Given the description of an element on the screen output the (x, y) to click on. 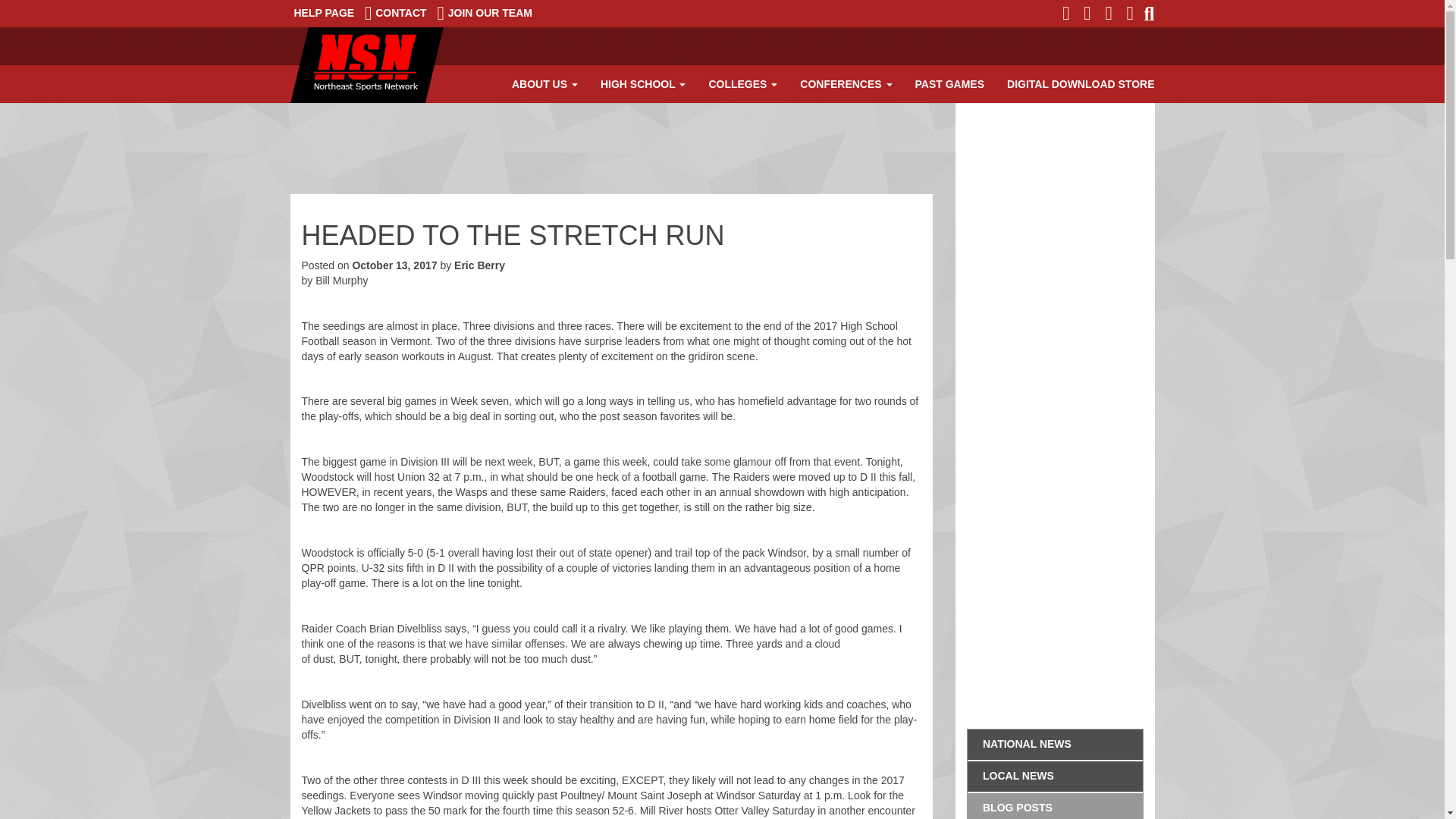
High School (643, 84)
JOIN OUR TEAM (484, 12)
HIGH SCHOOL (643, 84)
Home (365, 65)
CONTACT (395, 12)
ABOUT US (544, 84)
About Us (544, 84)
HELP PAGE (323, 12)
COLLEGES (743, 84)
